Given the description of an element on the screen output the (x, y) to click on. 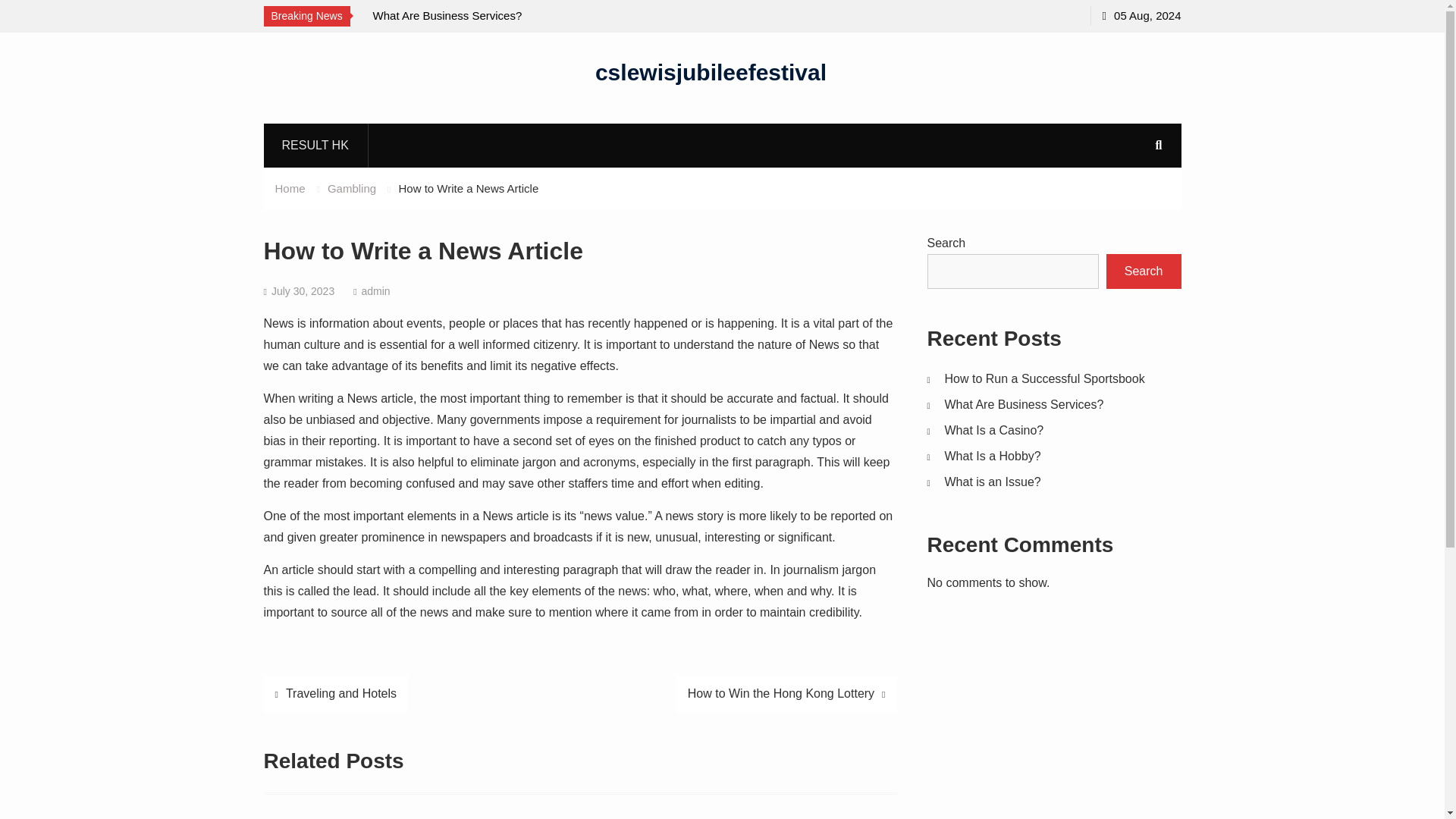
What Is a Casino? (993, 430)
Gambling (351, 187)
What is an Issue? (992, 481)
Search (1143, 271)
What Are Business Services? (447, 15)
How to Run a Successful Sportsbook (1044, 378)
Traveling and Hotels (336, 693)
What Is a Hobby? (992, 455)
Home (289, 187)
July 30, 2023 (302, 291)
cslewisjubileefestival (711, 71)
RESULT HK (315, 144)
admin (375, 291)
How to Win the Hong Kong Lottery (786, 693)
What Are Business Services? (1023, 404)
